Given the description of an element on the screen output the (x, y) to click on. 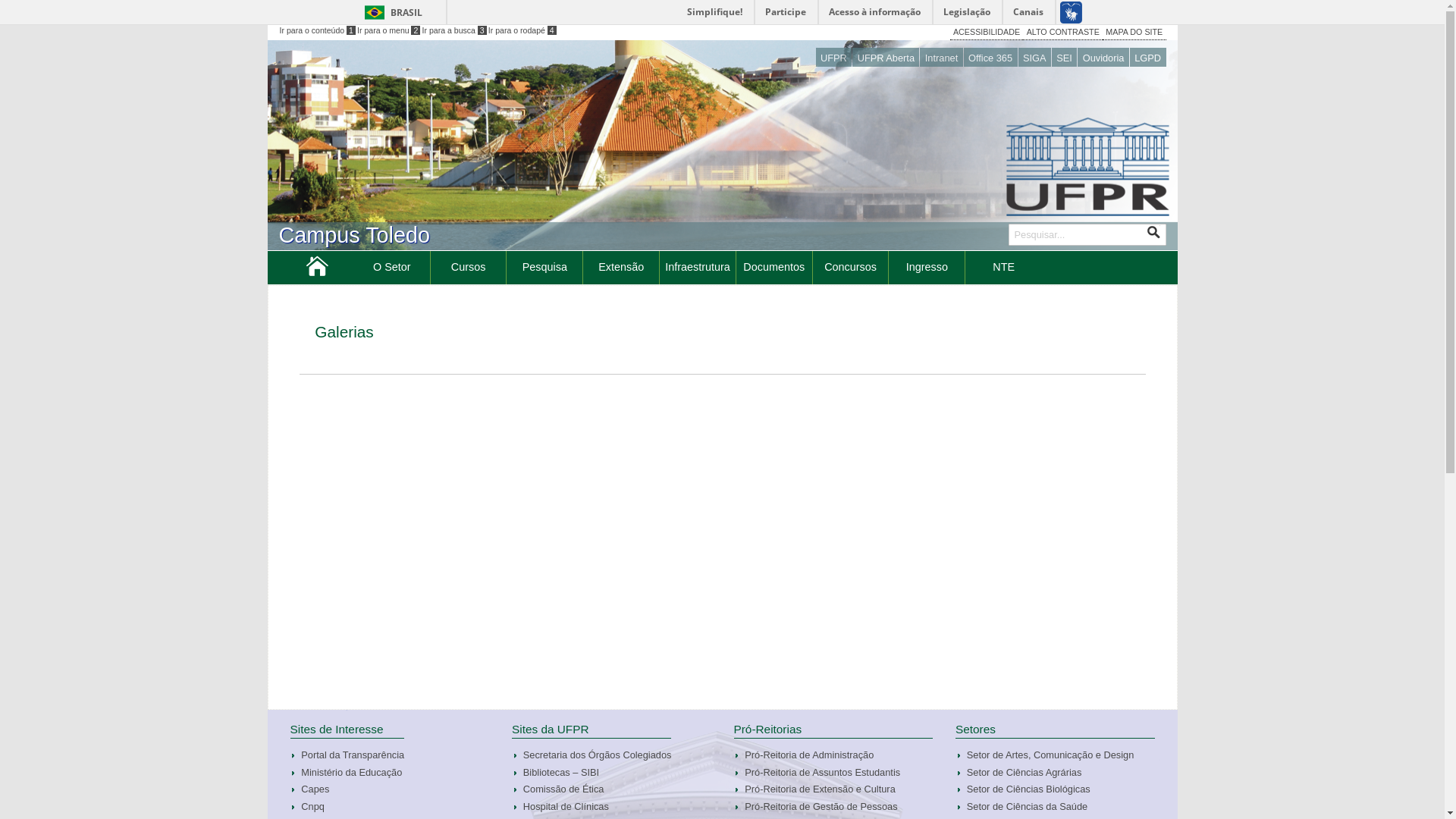
O Setor Element type: text (391, 267)
SIGA Element type: text (1033, 57)
Ingresso Element type: text (926, 267)
UFPR Element type: text (833, 57)
Infraestrutura Element type: text (697, 267)
LGPD Element type: text (1147, 57)
MAPA DO SITE Element type: text (1133, 32)
Cursos Element type: text (468, 267)
ALTO CONTRASTE Element type: text (1062, 32)
Capes Element type: text (351, 788)
UFPR Aberta Element type: text (885, 57)
Office 365 Element type: text (990, 57)
Intranet Element type: text (940, 57)
Pesquisa Element type: text (544, 267)
BRASIL Element type: text (389, 12)
Concursos Element type: text (850, 267)
Ir para o menu2 Element type: text (388, 30)
Portal Campus Toledo - UFPR Element type: hover (317, 270)
NTE Element type: text (1003, 267)
Ouvidoria Element type: text (1103, 57)
Ir para a busca3 Element type: text (454, 30)
ACESSIBILIDADE Element type: text (986, 32)
Documentos Element type: text (774, 267)
SEI Element type: text (1063, 57)
Cnpq Element type: text (351, 806)
